Given the description of an element on the screen output the (x, y) to click on. 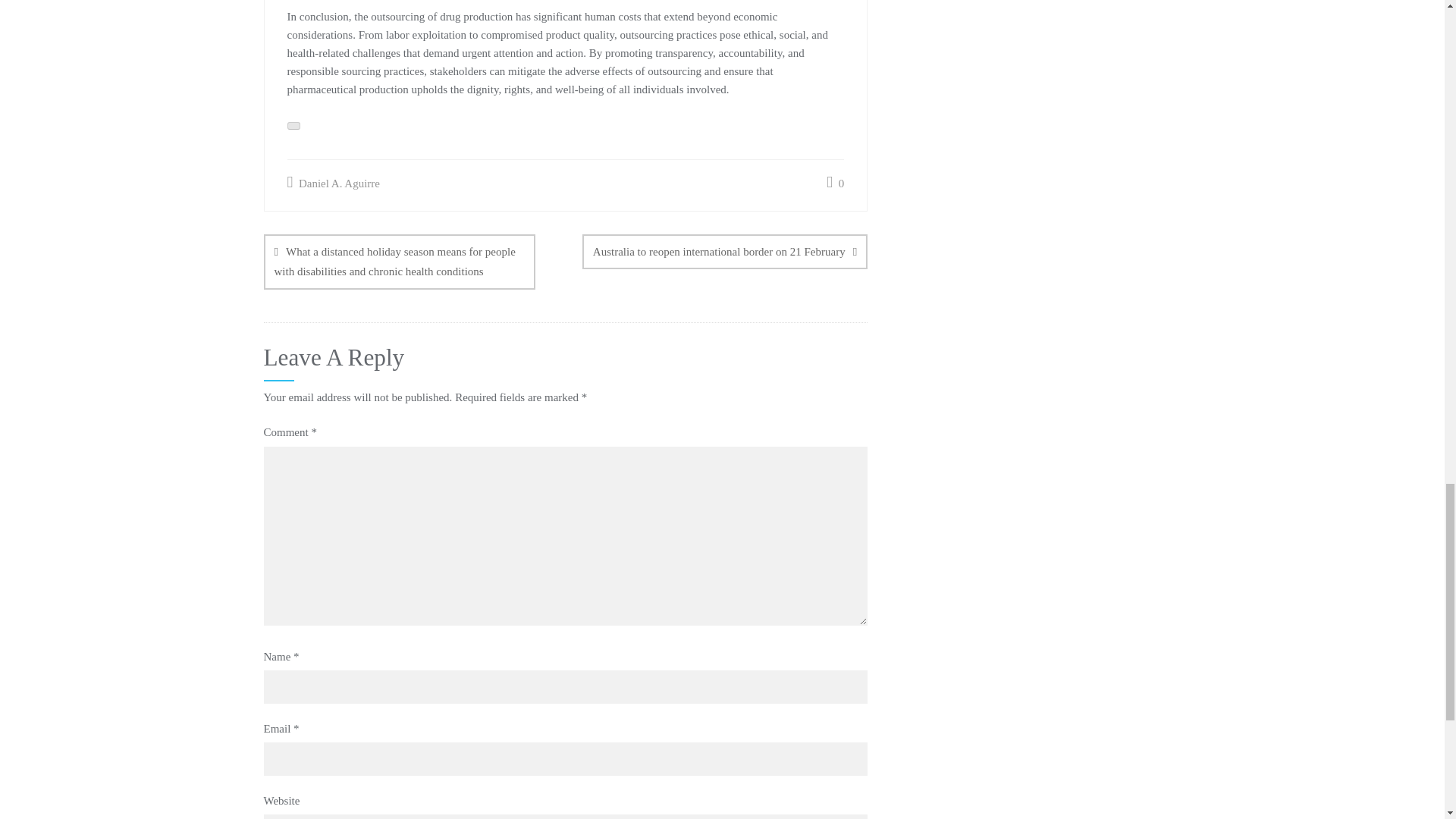
Daniel A. Aguirre (332, 183)
Australia to reopen international border on 21 February (724, 251)
